Given the description of an element on the screen output the (x, y) to click on. 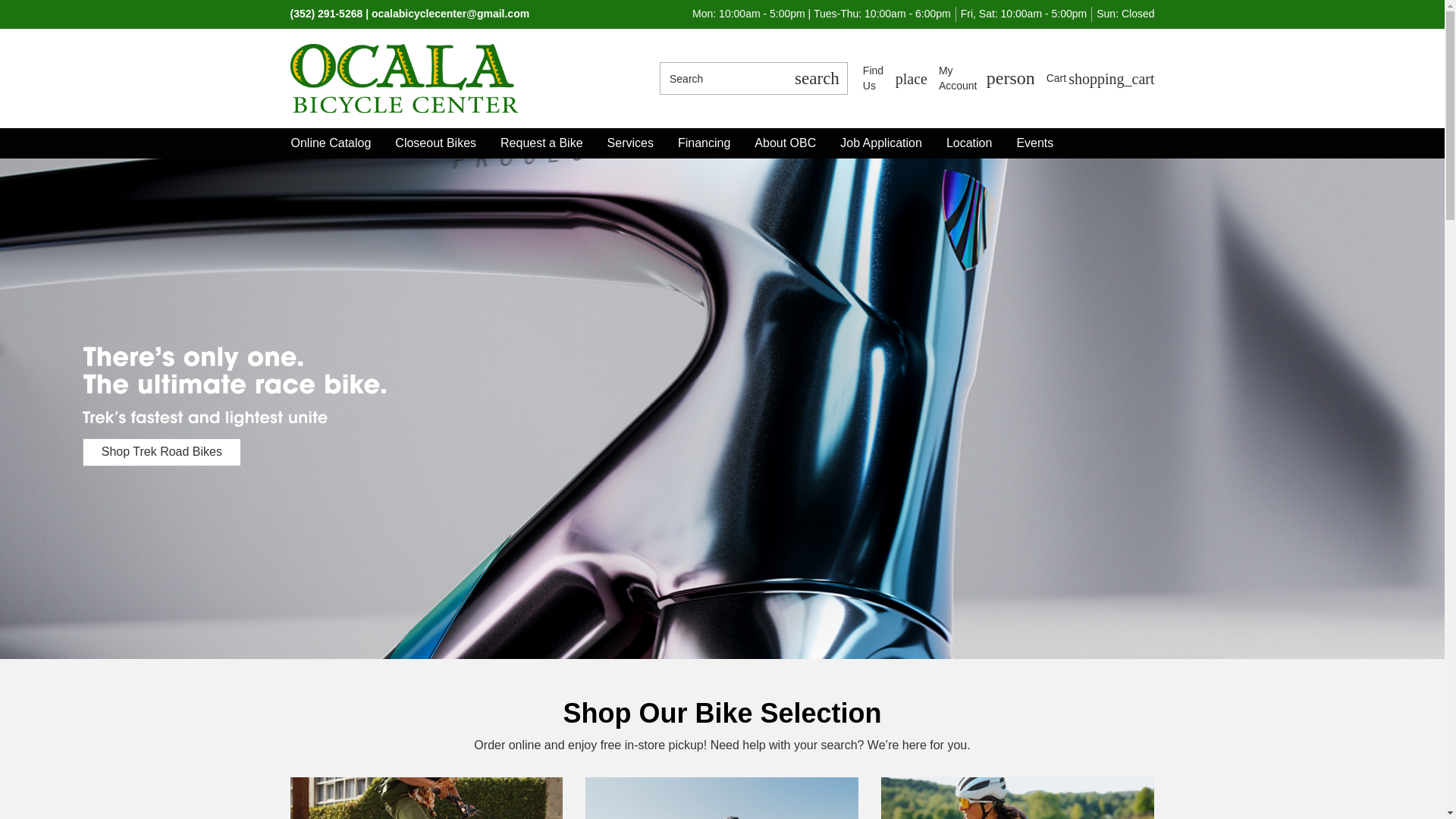
Search (722, 78)
Online Catalog (330, 142)
Account (987, 78)
Electric Bikes (987, 78)
Road Bikes (895, 78)
Ocala Bicycle Center Home Page (425, 798)
Store (1017, 798)
